Given the description of an element on the screen output the (x, y) to click on. 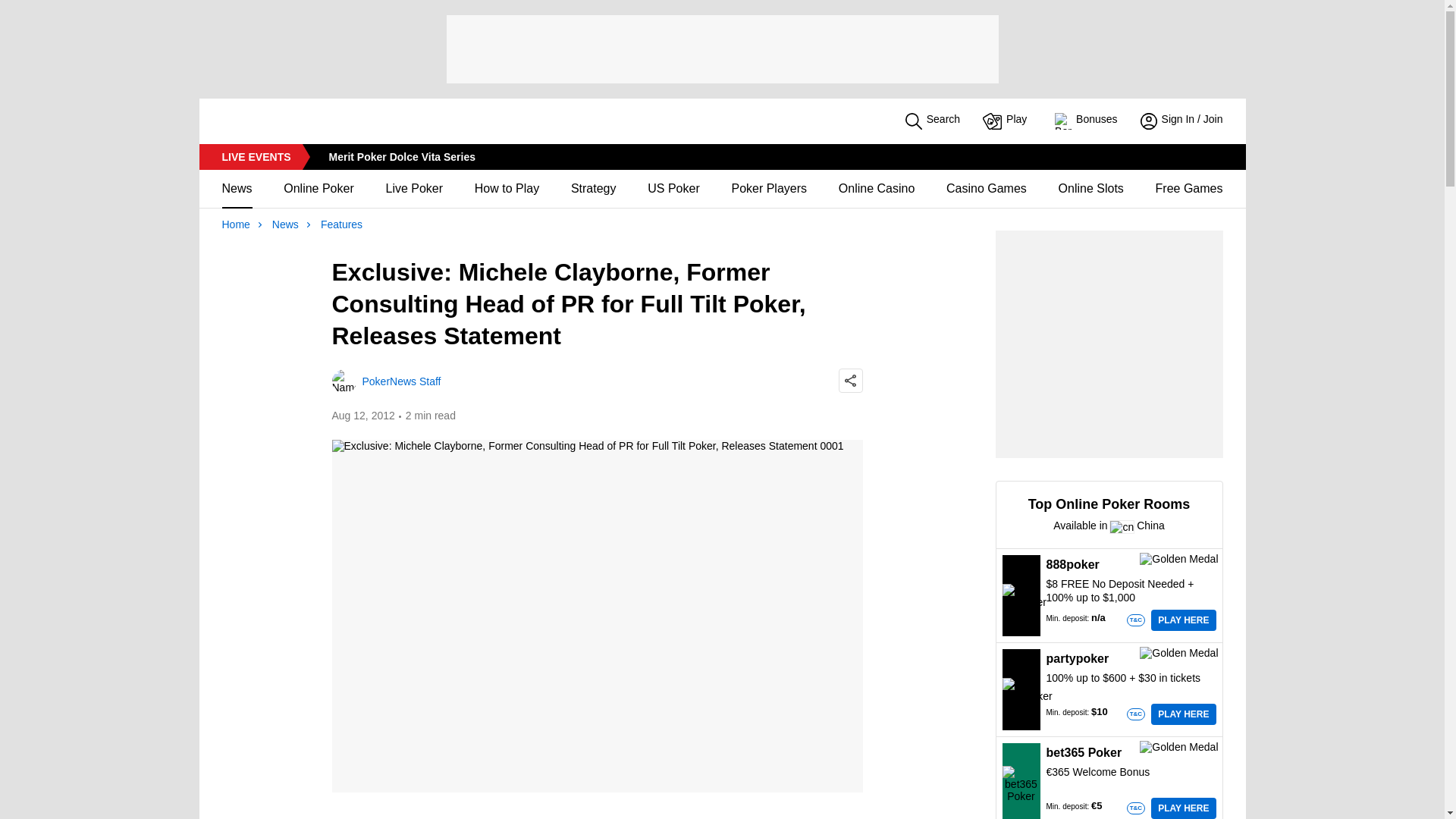
 Merit Poker Dolce Vita Series (402, 156)
LIVE EVENTS (255, 156)
bet365 Poker (1022, 783)
Play (1007, 121)
Poker News (289, 121)
Merit Poker Dolce Vita Series (402, 156)
